Given the description of an element on the screen output the (x, y) to click on. 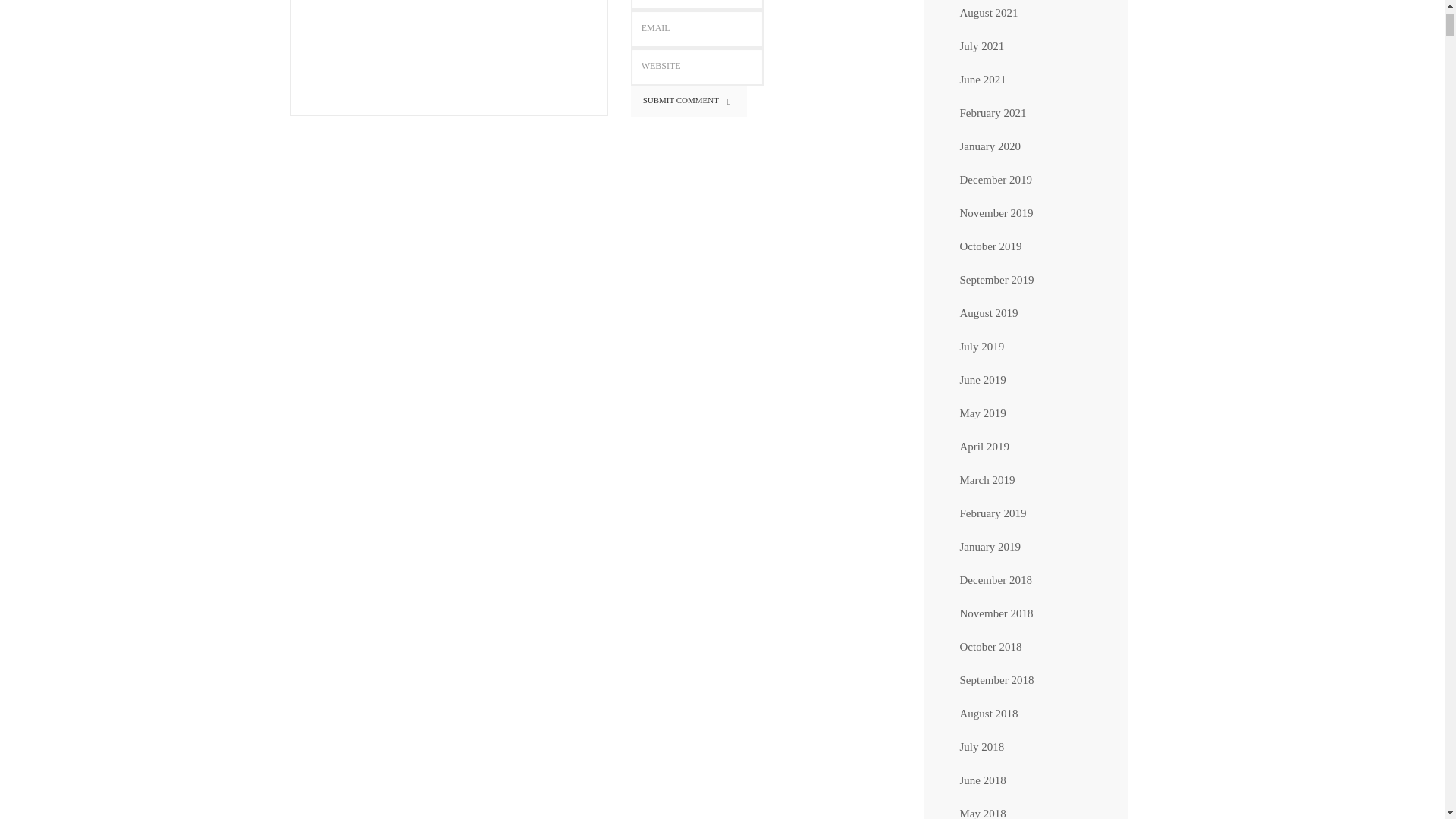
SUBMIT COMMENT (688, 101)
